Given the description of an element on the screen output the (x, y) to click on. 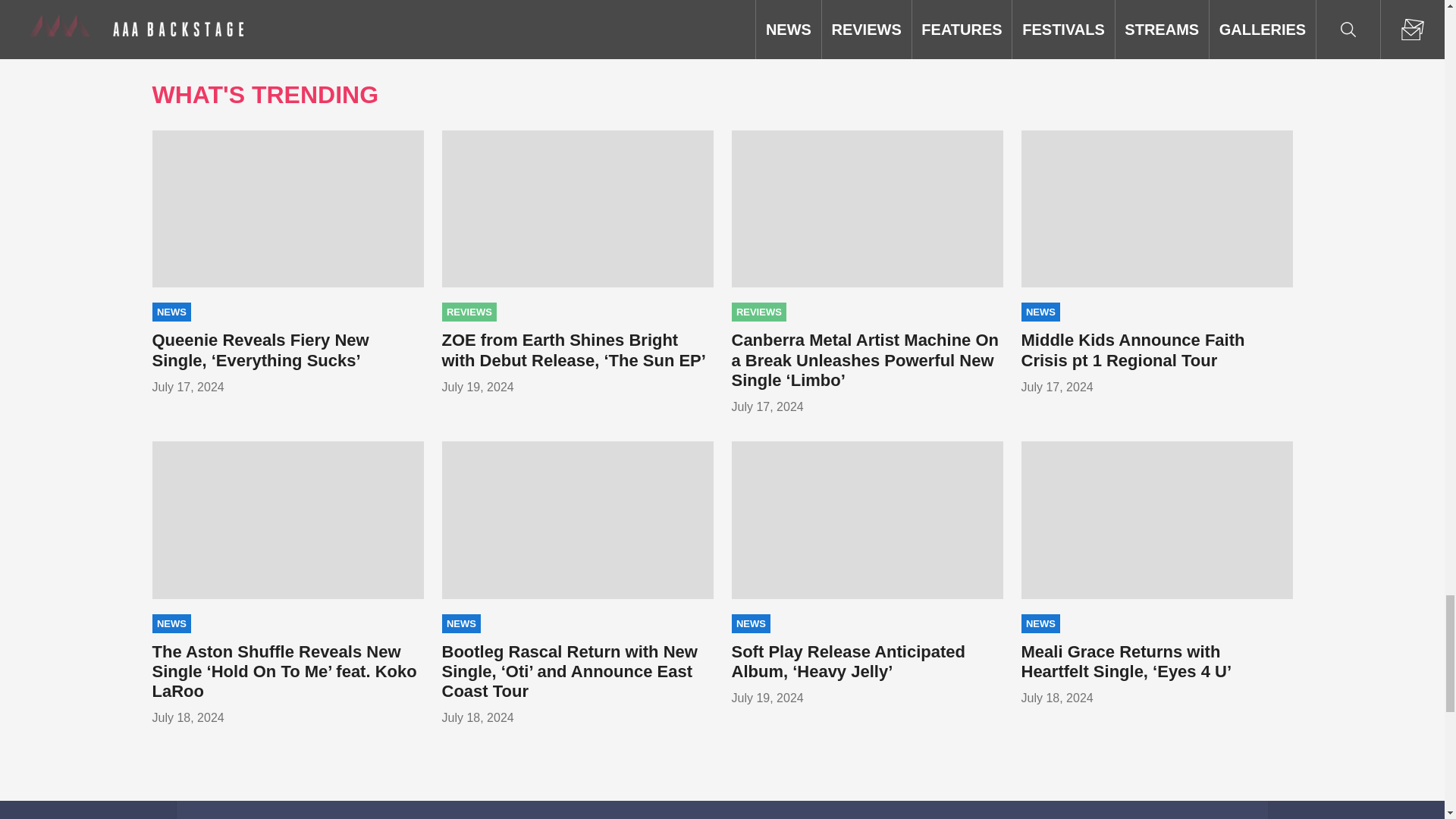
NEWS (170, 311)
REVIEWS (468, 311)
